Given the description of an element on the screen output the (x, y) to click on. 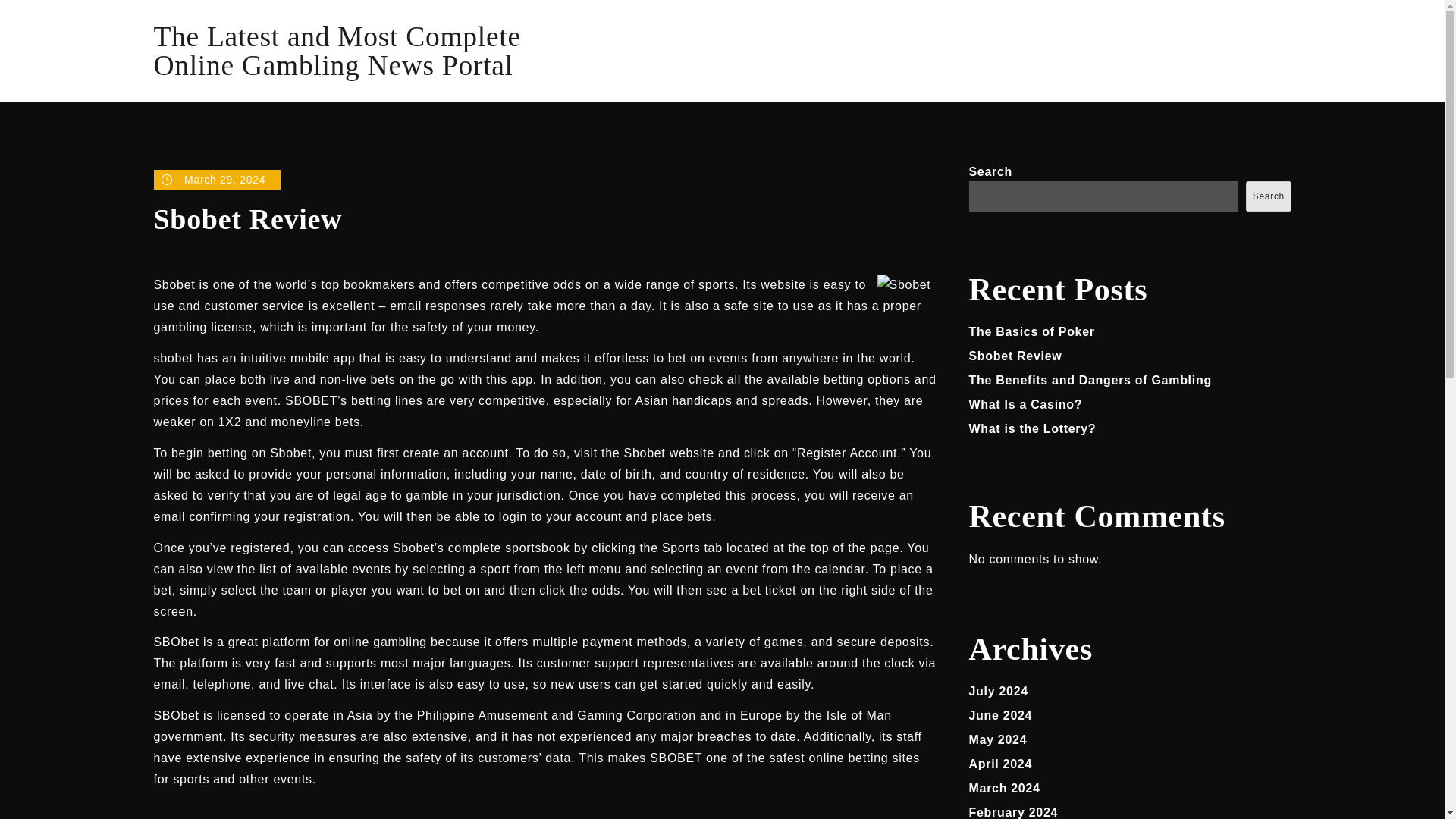
What Is a Casino? (1026, 404)
July 2024 (998, 690)
What is the Lottery? (1032, 428)
June 2024 (1000, 715)
April 2024 (1000, 763)
March 29, 2024 (216, 179)
Search (1268, 195)
Sbobet Review (1015, 355)
The Latest and Most Complete Online Gambling News Portal (335, 51)
February 2024 (1013, 812)
The Benefits and Dangers of Gambling (1090, 379)
The Basics of Poker (1031, 331)
May 2024 (998, 739)
March 2024 (1005, 788)
